Given the description of an element on the screen output the (x, y) to click on. 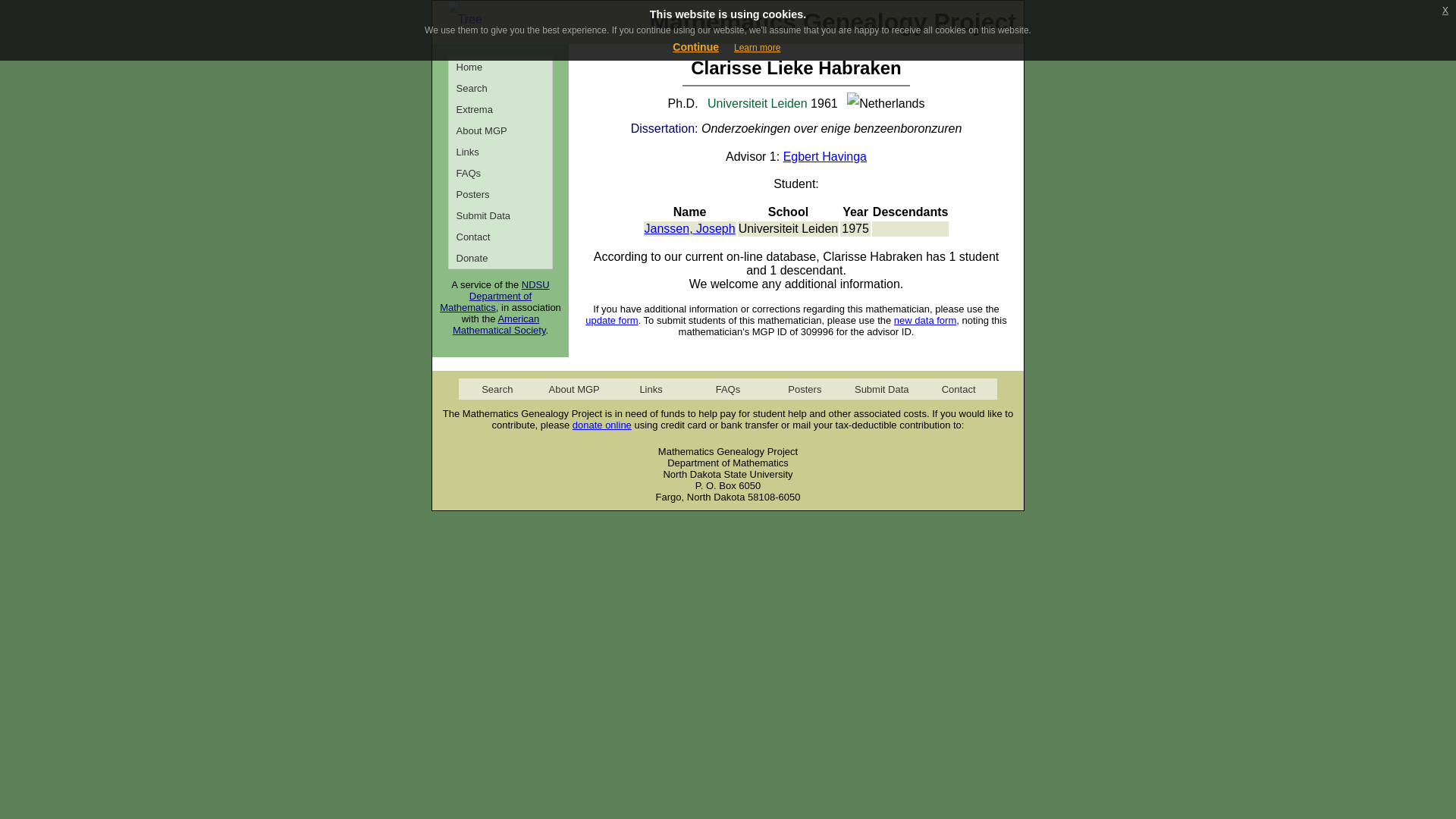
Frequently Asked Questions (500, 172)
Search (500, 87)
Department of Mathematics (485, 301)
Submit Data (881, 388)
About MGP (573, 388)
Janssen, Joseph (690, 228)
Contact (957, 388)
Home (500, 66)
Submit Data (500, 215)
Continue (695, 46)
Posters (500, 193)
donate online (601, 424)
Netherlands (885, 103)
Search (496, 388)
update form (611, 319)
